Given the description of an element on the screen output the (x, y) to click on. 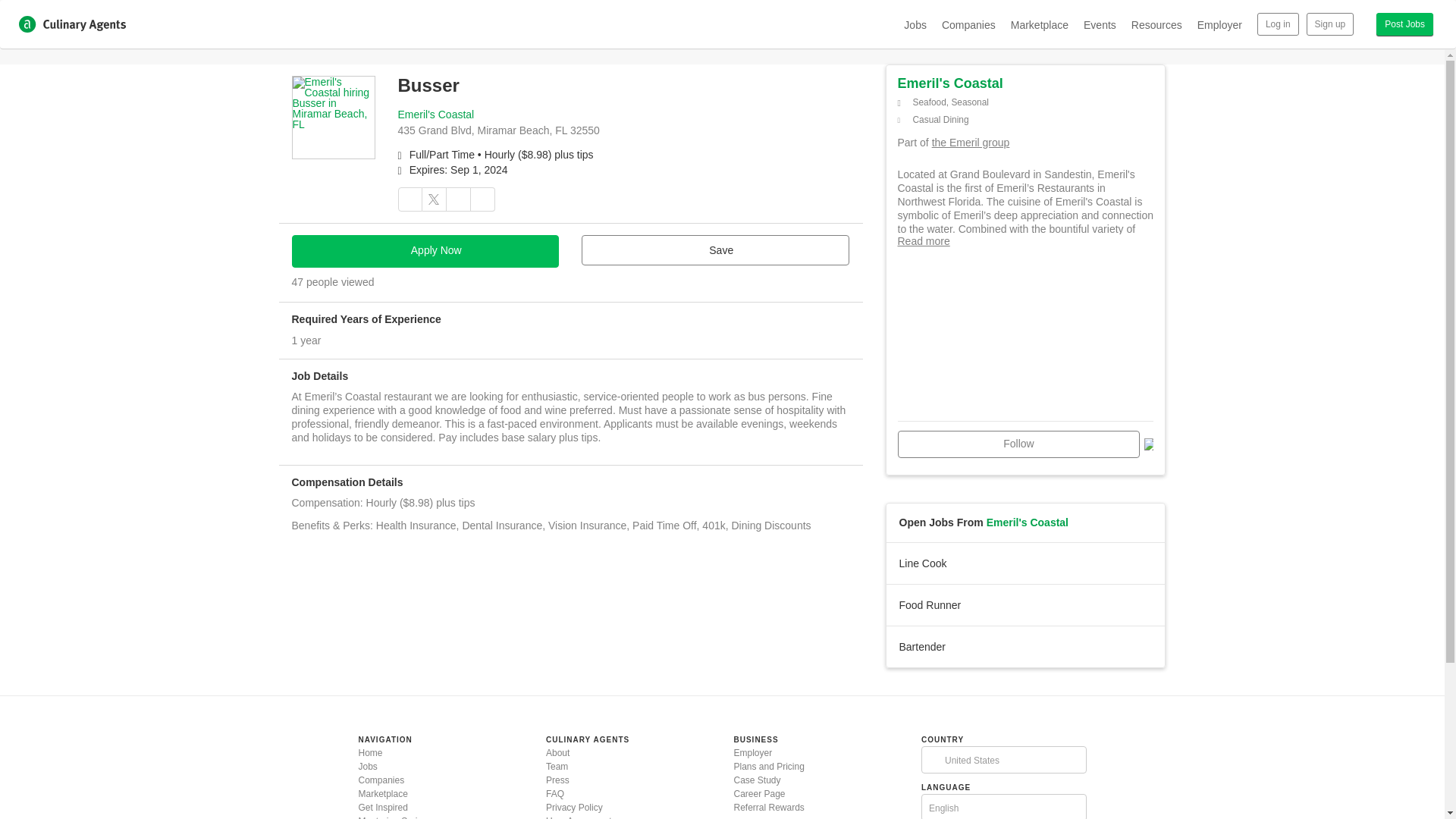
Emeril's Coastal (1027, 522)
Post Jobs (1403, 24)
Follow (1019, 443)
Home (369, 752)
Food Runner (1024, 604)
Apply Now (425, 251)
Companies (381, 779)
Emeril's Coastal (435, 114)
Jobs (367, 766)
Bartender (1024, 646)
